Given the description of an element on the screen output the (x, y) to click on. 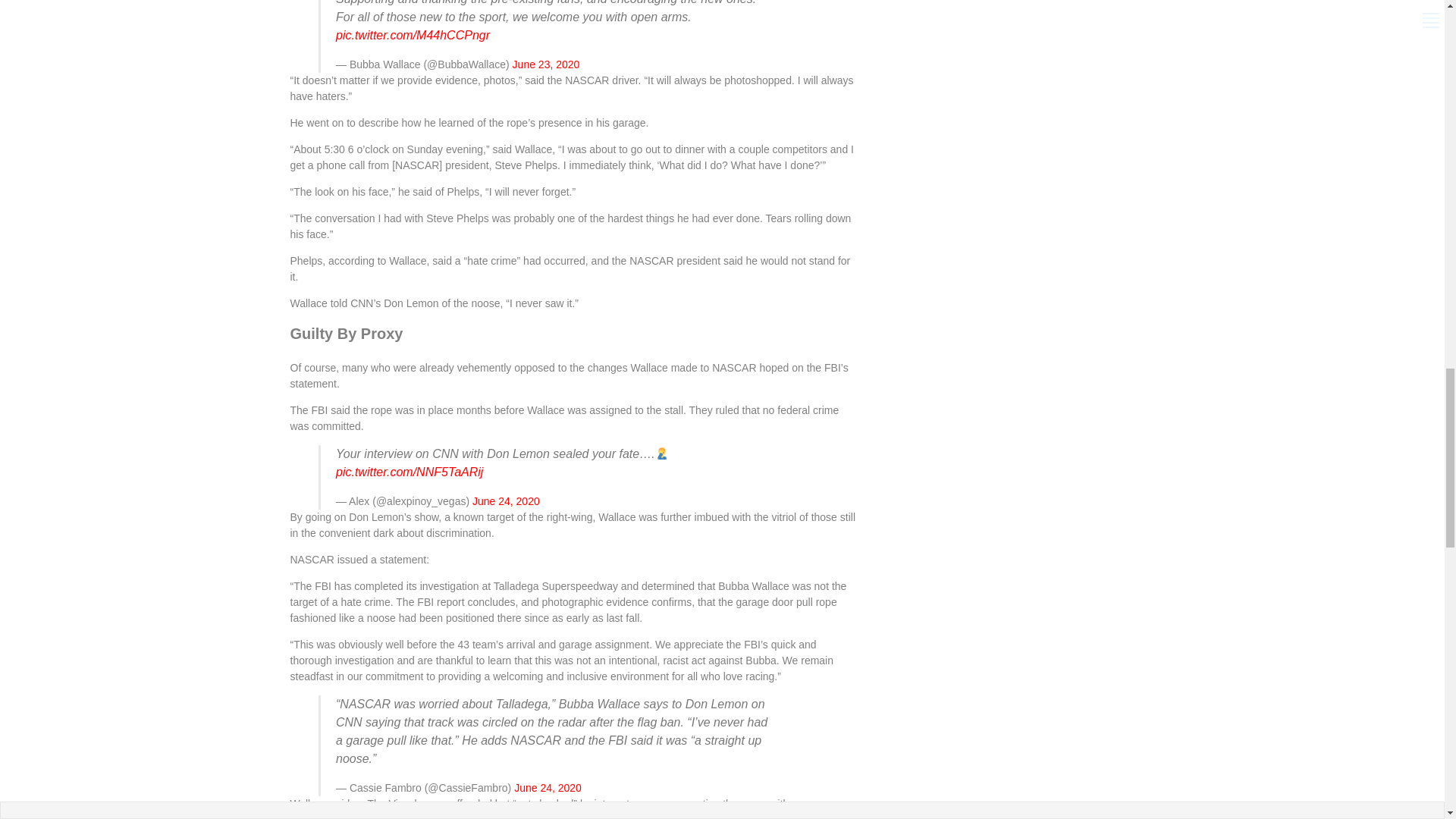
June 23, 2020 (545, 64)
June 24, 2020 (546, 787)
June 24, 2020 (505, 500)
